Given the description of an element on the screen output the (x, y) to click on. 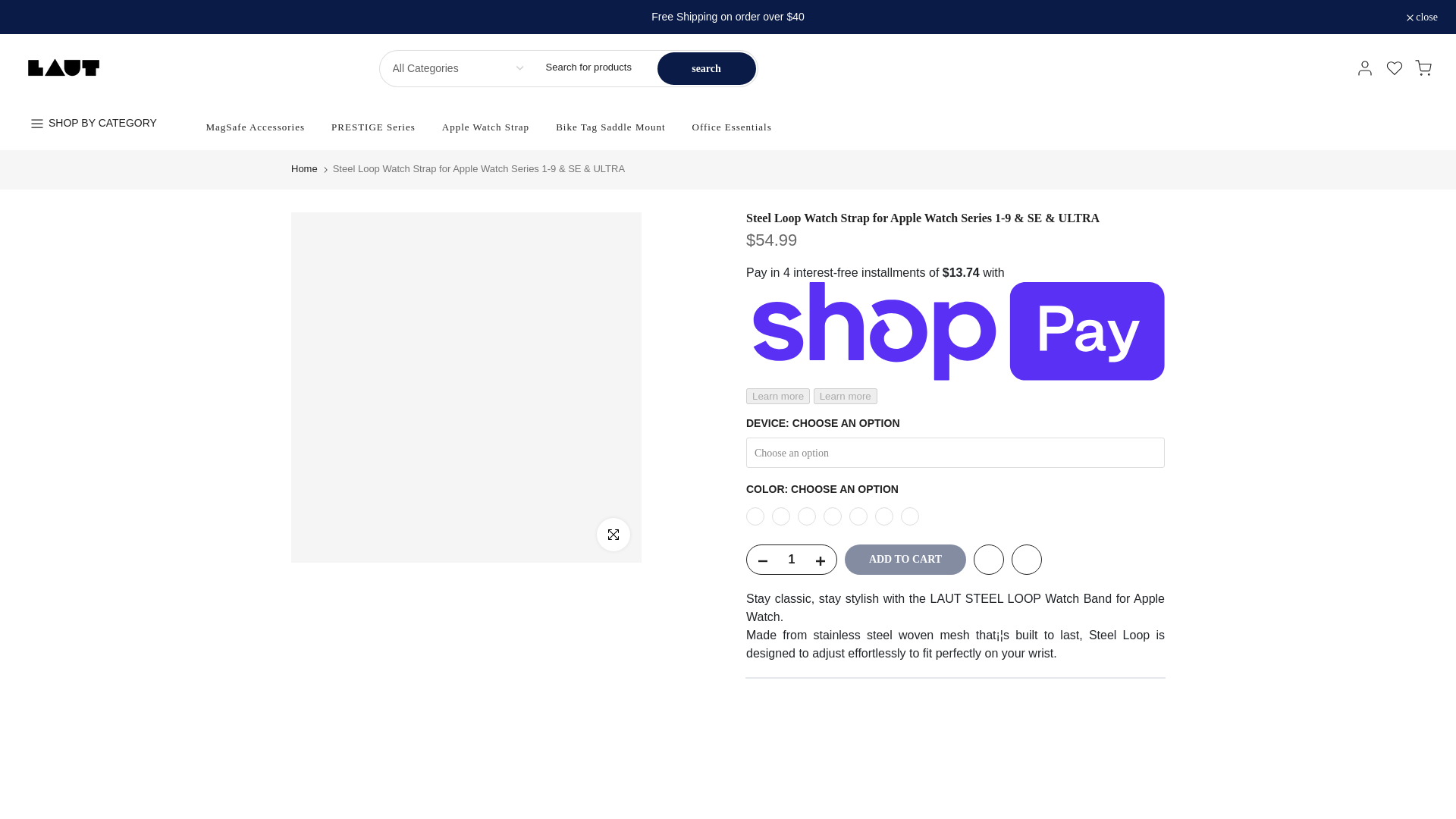
MagSafe Accessories (255, 126)
PRESTIGE Series (373, 126)
search (705, 67)
1 (791, 559)
close (1422, 17)
Choose an option (954, 452)
Office Essentials (731, 126)
Bike Tag Saddle Mount (610, 126)
Navy Blue (857, 515)
ADD TO CART (905, 559)
Silver (780, 515)
Rose Gold (832, 515)
Red (884, 515)
Apple Watch Strap (484, 126)
Gold (806, 515)
